Given the description of an element on the screen output the (x, y) to click on. 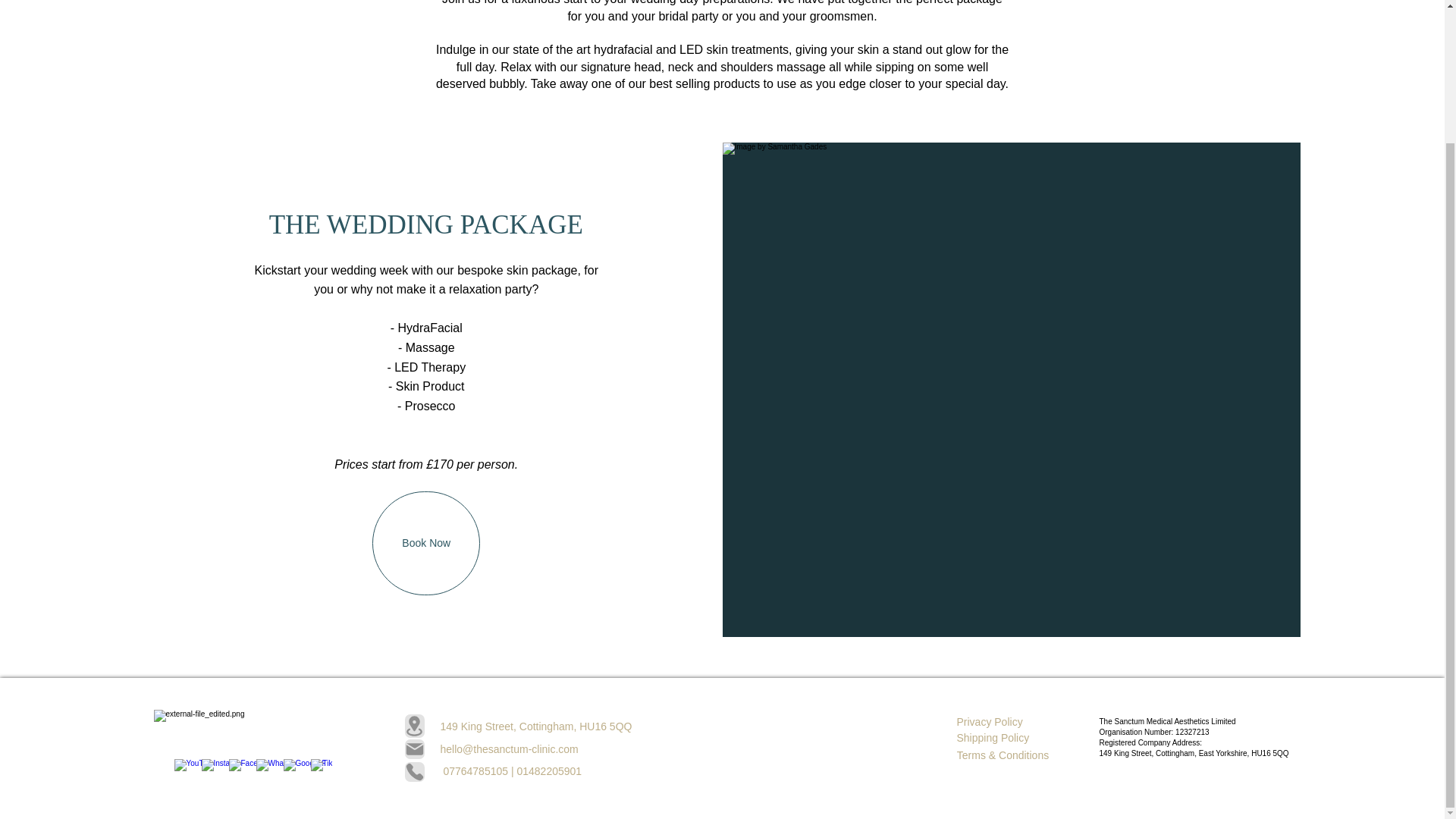
Privacy Policy (989, 722)
Shipping Policy (992, 738)
Book Now (426, 543)
